Given the description of an element on the screen output the (x, y) to click on. 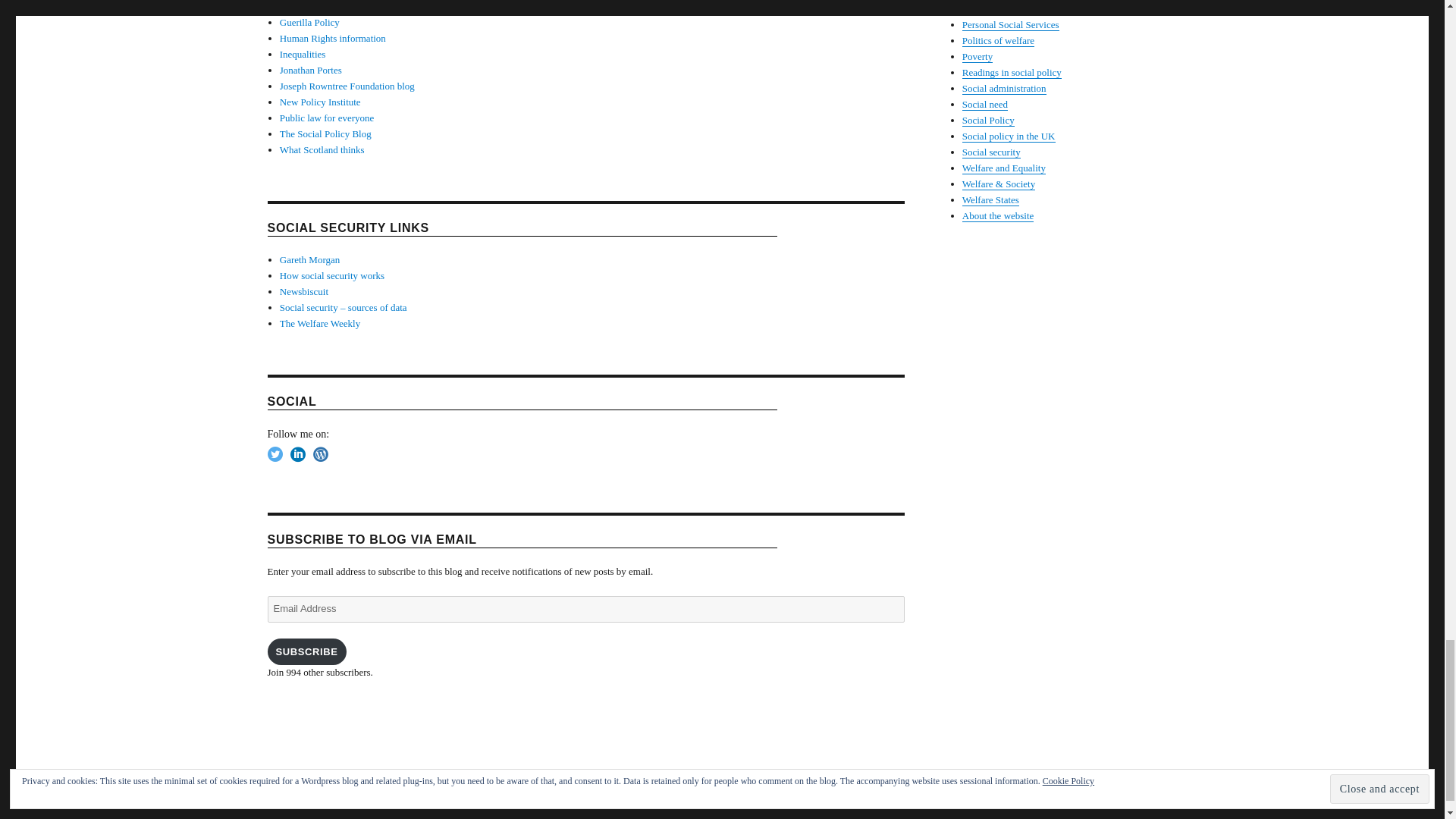
The British Onion (304, 291)
Not the Treasury view (310, 70)
